Given the description of an element on the screen output the (x, y) to click on. 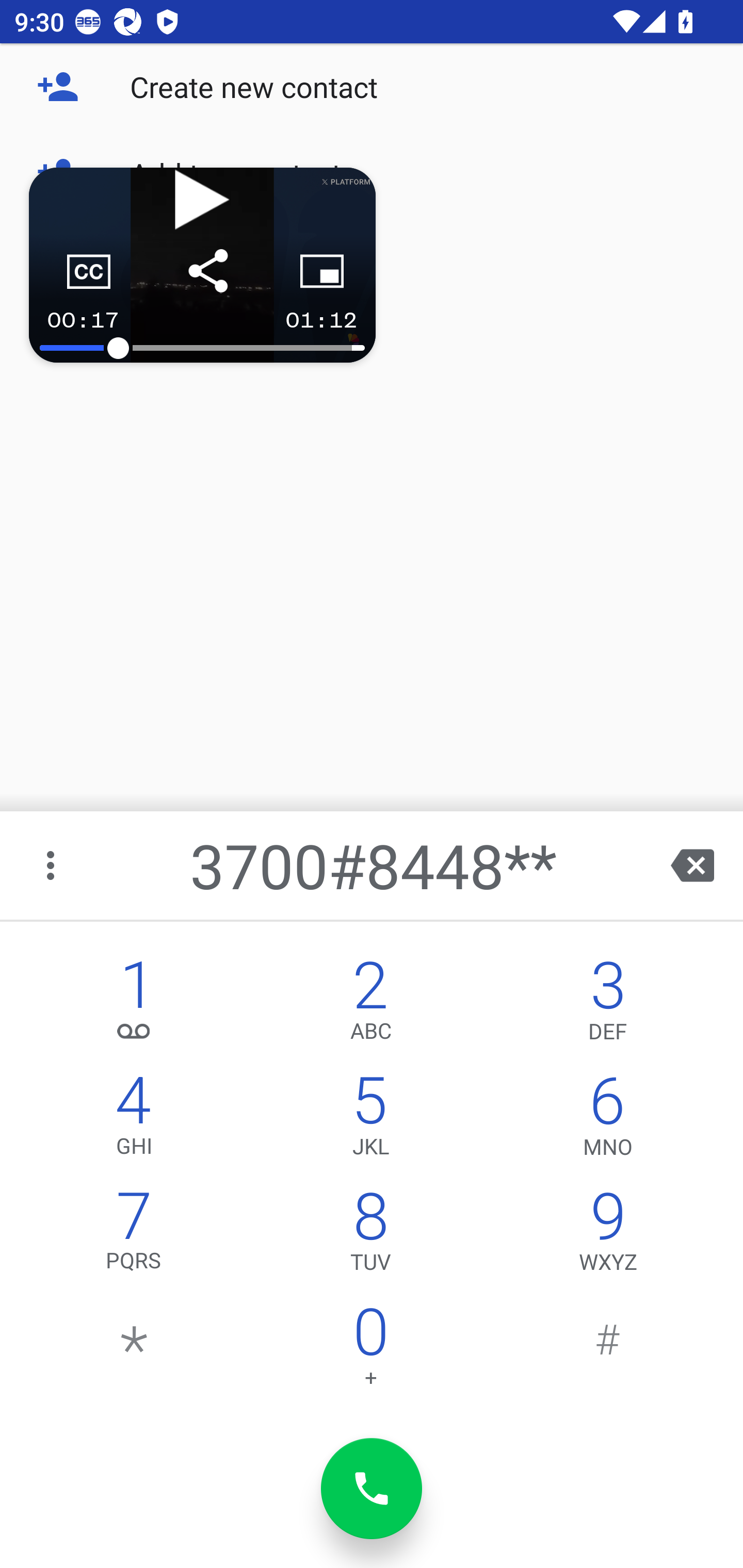
Create new contact (371, 86)
3700#8448** (372, 865)
backspace (692, 865)
More options (52, 865)
1, 1 (133, 1005)
2,ABC 2 ABC (370, 1005)
3,DEF 3 DEF (607, 1005)
4,GHI 4 GHI (133, 1120)
5,JKL 5 JKL (370, 1120)
6,MNO 6 MNO (607, 1120)
7,PQRS 7 PQRS (133, 1235)
8,TUV 8 TUV (370, 1235)
9,WXYZ 9 WXYZ (607, 1235)
* (133, 1351)
0 0 + (370, 1351)
# (607, 1351)
dial (371, 1488)
